Given the description of an element on the screen output the (x, y) to click on. 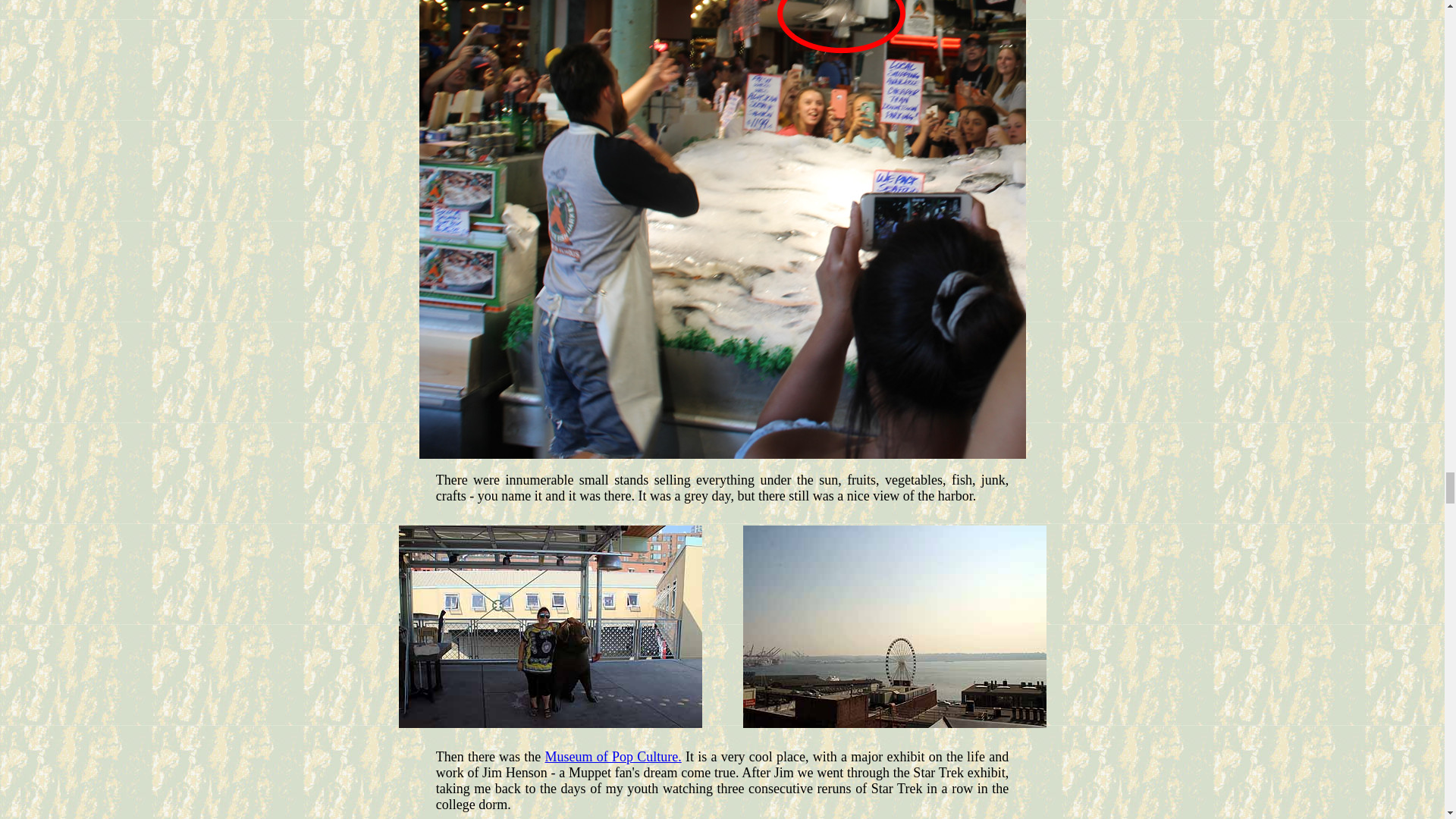
Museum of Pop Culture. (612, 756)
